Given the description of an element on the screen output the (x, y) to click on. 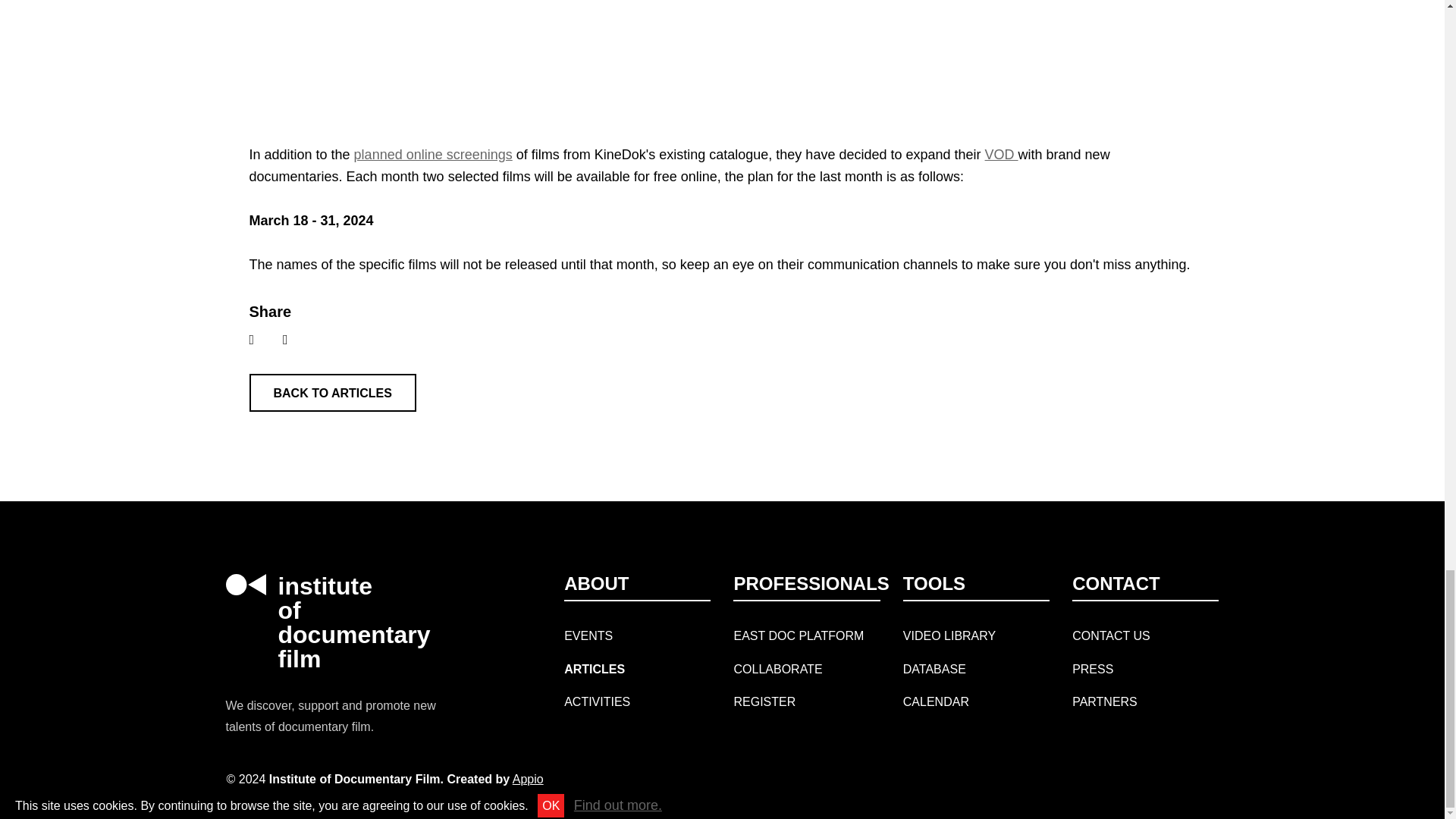
COLLABORATE (777, 668)
planned online screenings (432, 154)
EVENTS (588, 635)
ACTIVITIES (597, 701)
CALENDAR (935, 701)
PARTNERS (1104, 701)
ARTICLES (594, 668)
VOD  (1001, 154)
VIDEO LIBRARY (948, 635)
CONTACT US (1110, 635)
